Given the description of an element on the screen output the (x, y) to click on. 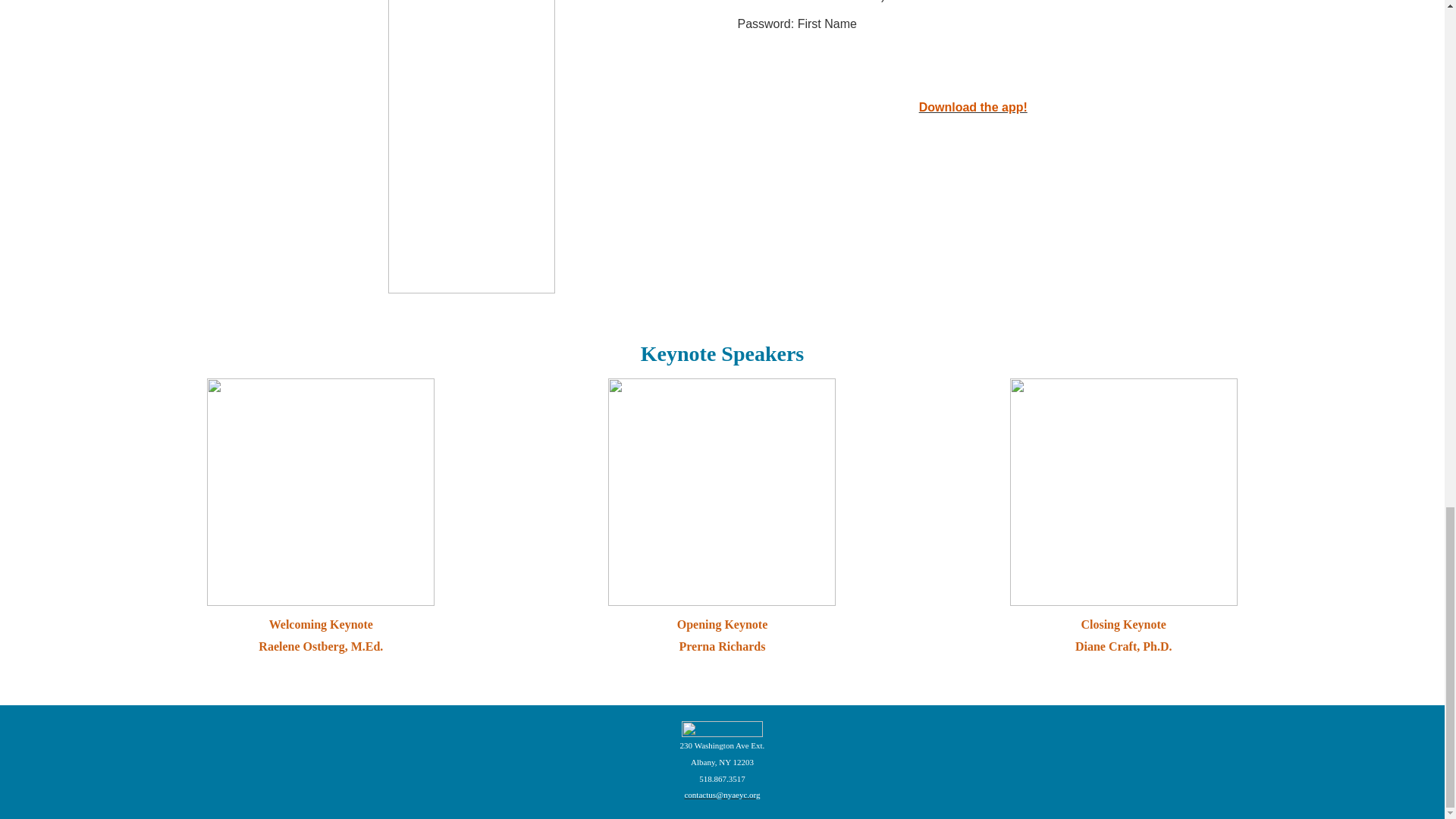
Download the app! (972, 106)
